Given the description of an element on the screen output the (x, y) to click on. 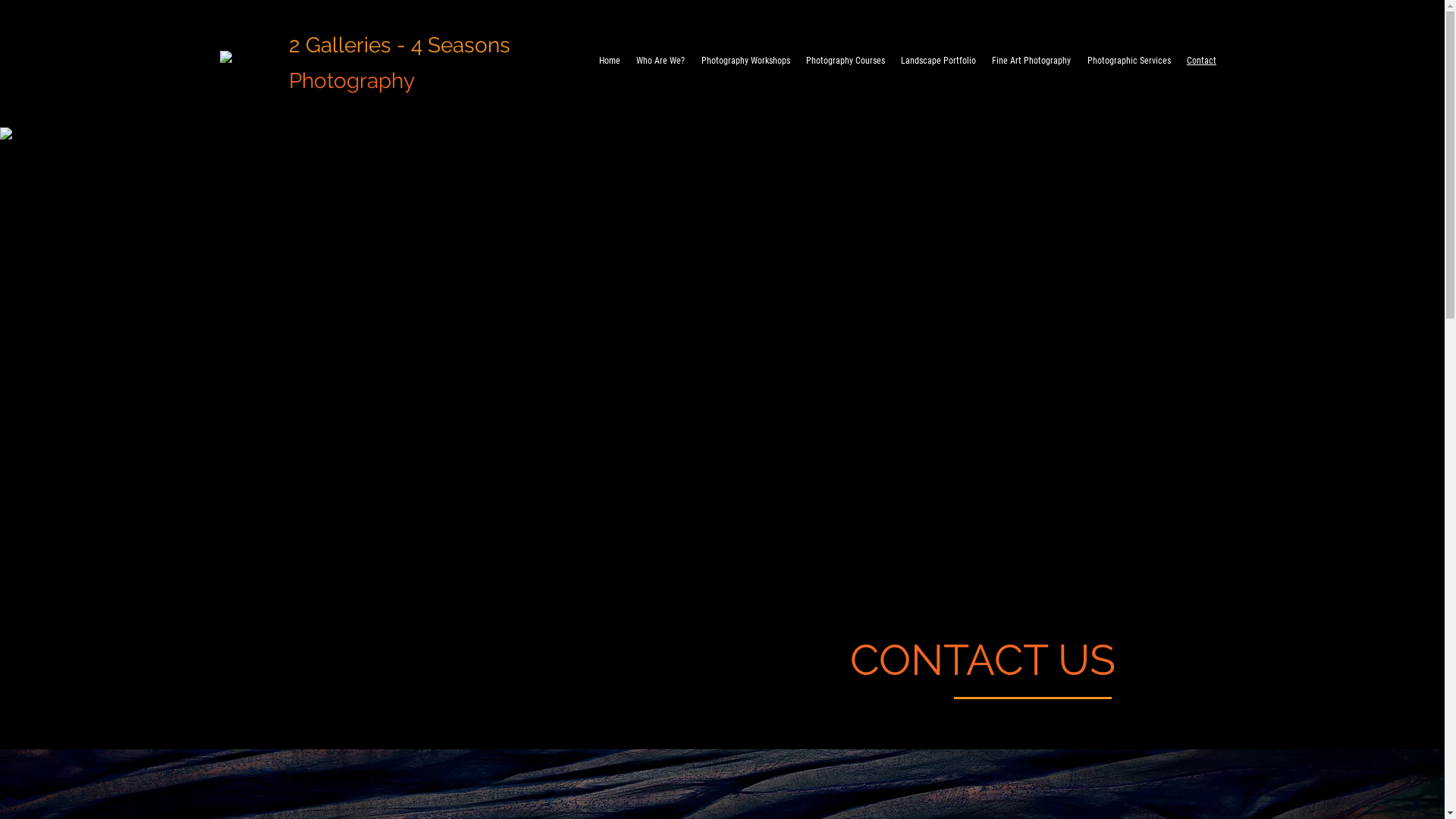
Who Are We? Element type: text (660, 60)
Photography Courses Element type: text (844, 60)
Contact Element type: text (1200, 60)
Photography Workshops Element type: text (745, 60)
Photographic Services Element type: text (1128, 60)
Fine Art Photography Element type: text (1031, 60)
Home Element type: text (609, 60)
Landscape Portfolio Element type: text (938, 60)
